Given the description of an element on the screen output the (x, y) to click on. 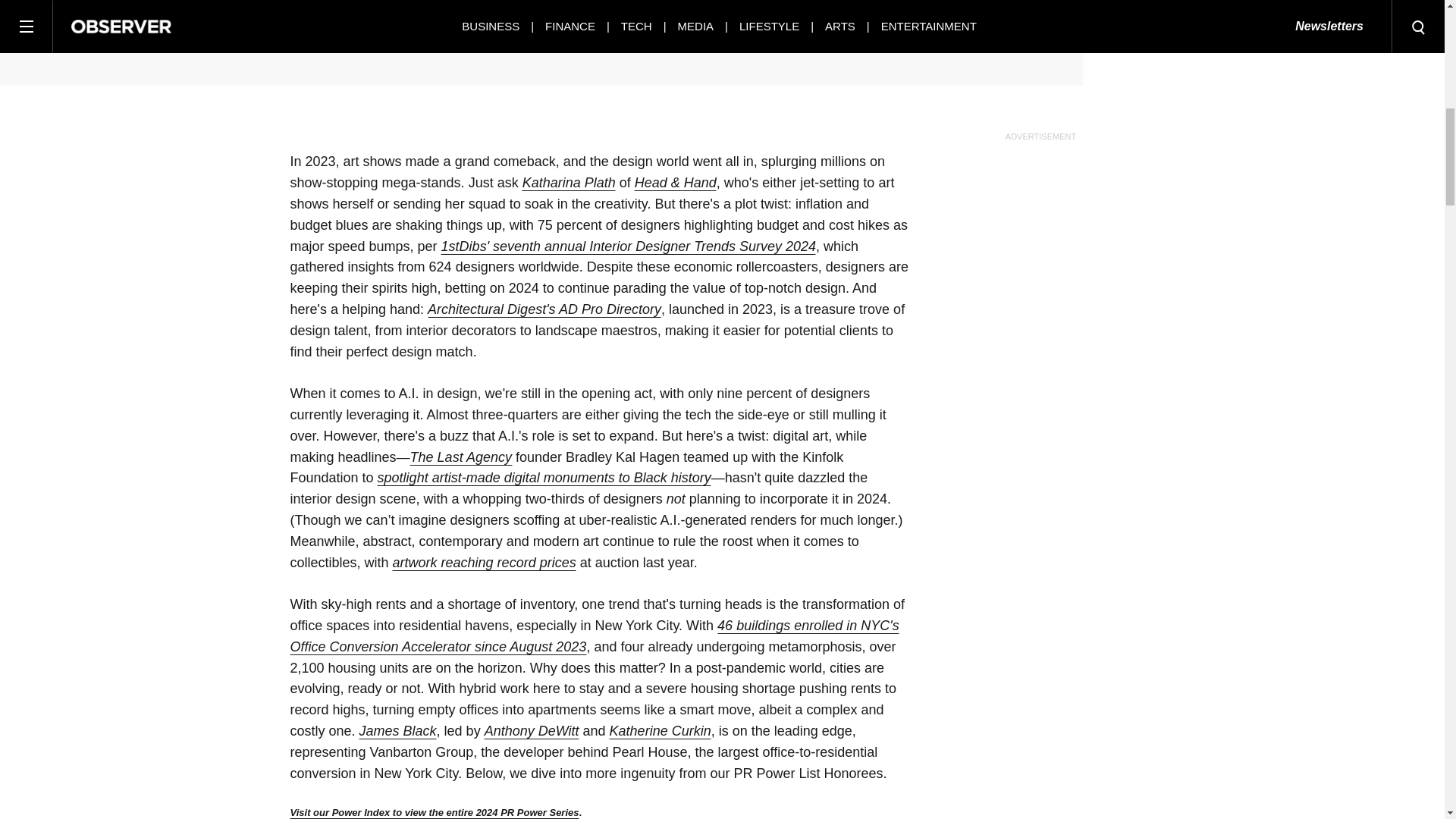
The Last Agency (461, 457)
James Black (397, 731)
Anthony DeWitt (531, 731)
Katherine Curkin (660, 731)
Katharina Plath (568, 182)
